Given the description of an element on the screen output the (x, y) to click on. 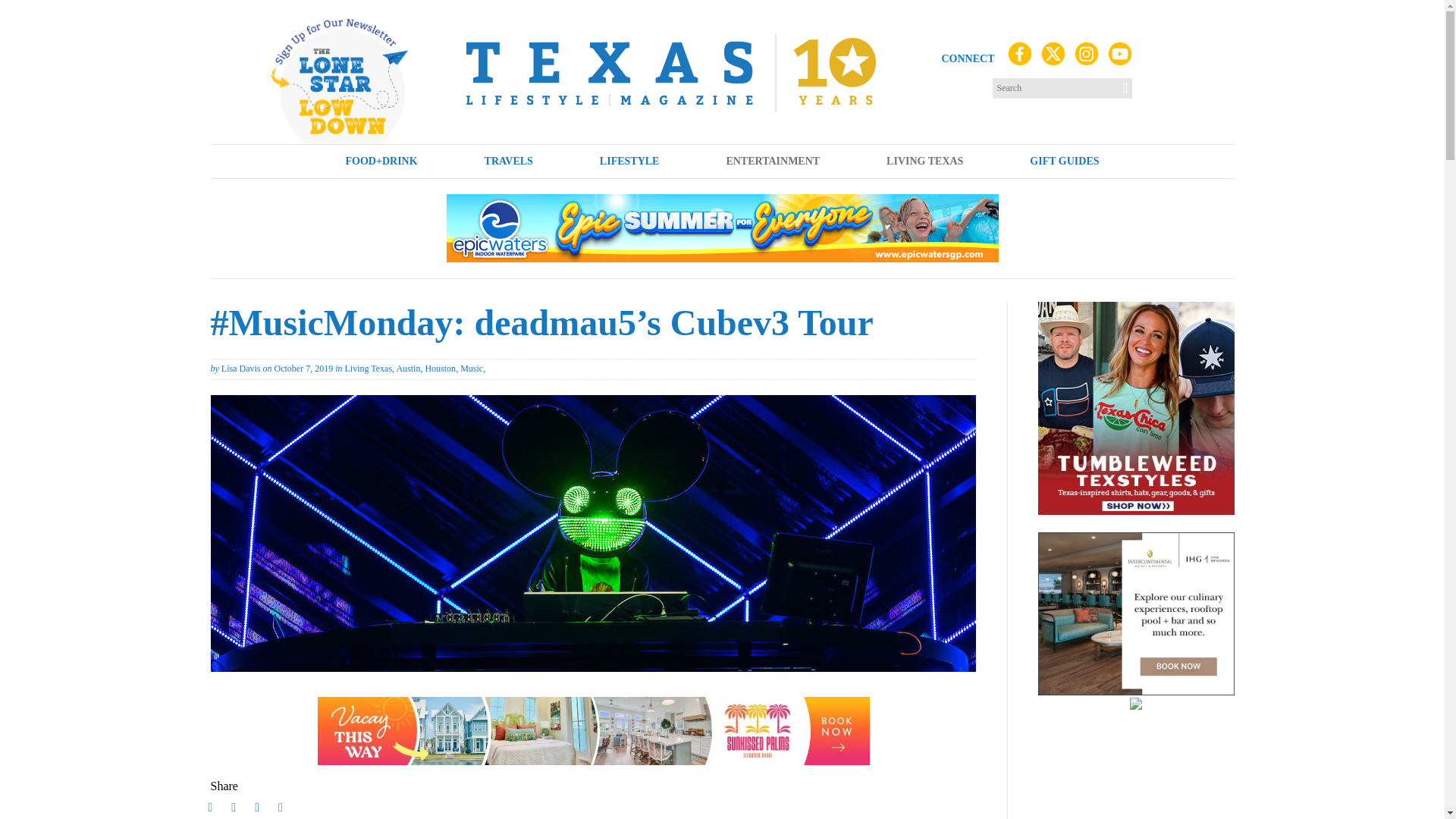
Houston (440, 368)
LIVING TEXAS (924, 161)
Austin (408, 368)
LIFESTYLE (629, 161)
CONNECT (967, 58)
ENTERTAINMENT (772, 161)
Music (471, 368)
Living Texas (367, 368)
GIFT GUIDES (1063, 161)
TRAVELS (508, 161)
